Given the description of an element on the screen output the (x, y) to click on. 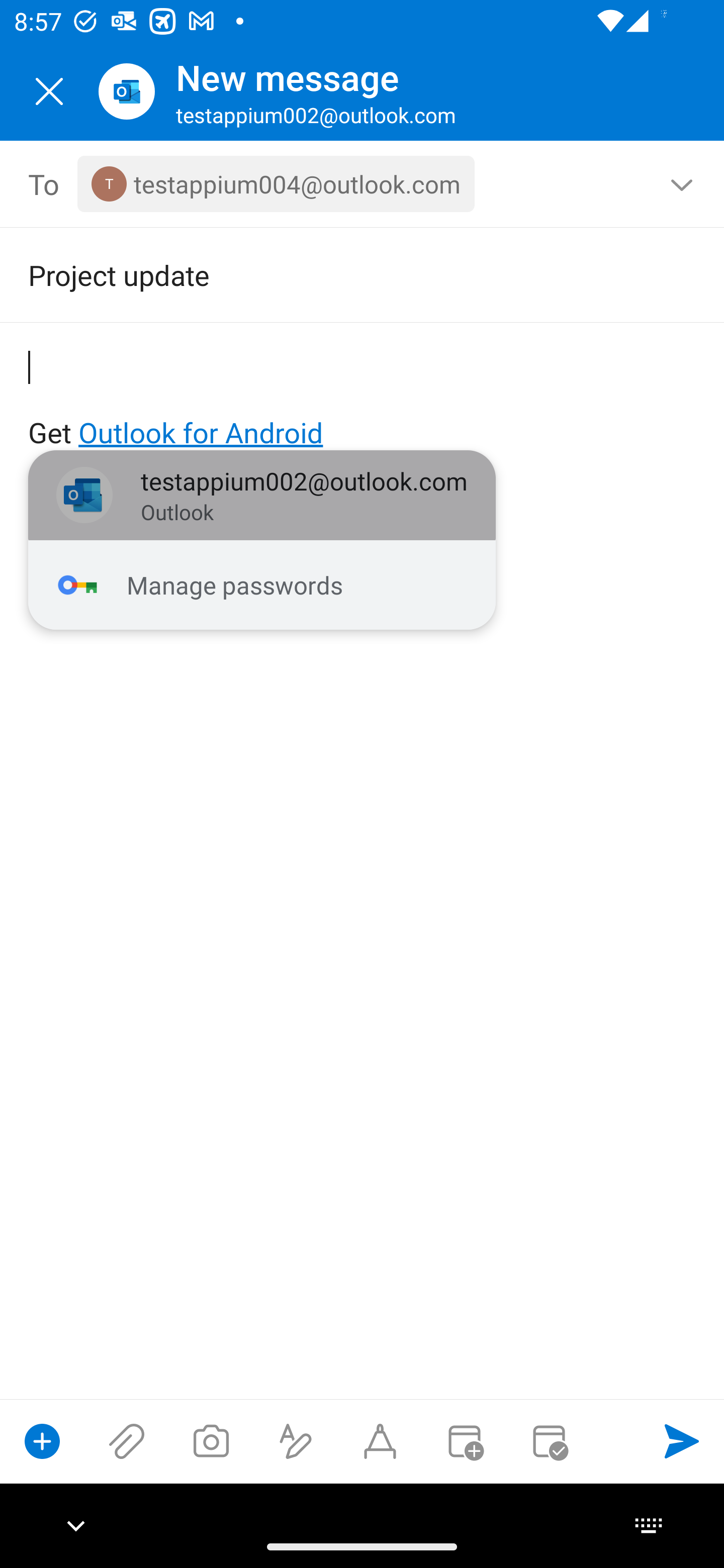
Outlook testappium002@outlook.com Outlook (261, 495)
Google Password Manager Manage passwords (261, 585)
